Given the description of an element on the screen output the (x, y) to click on. 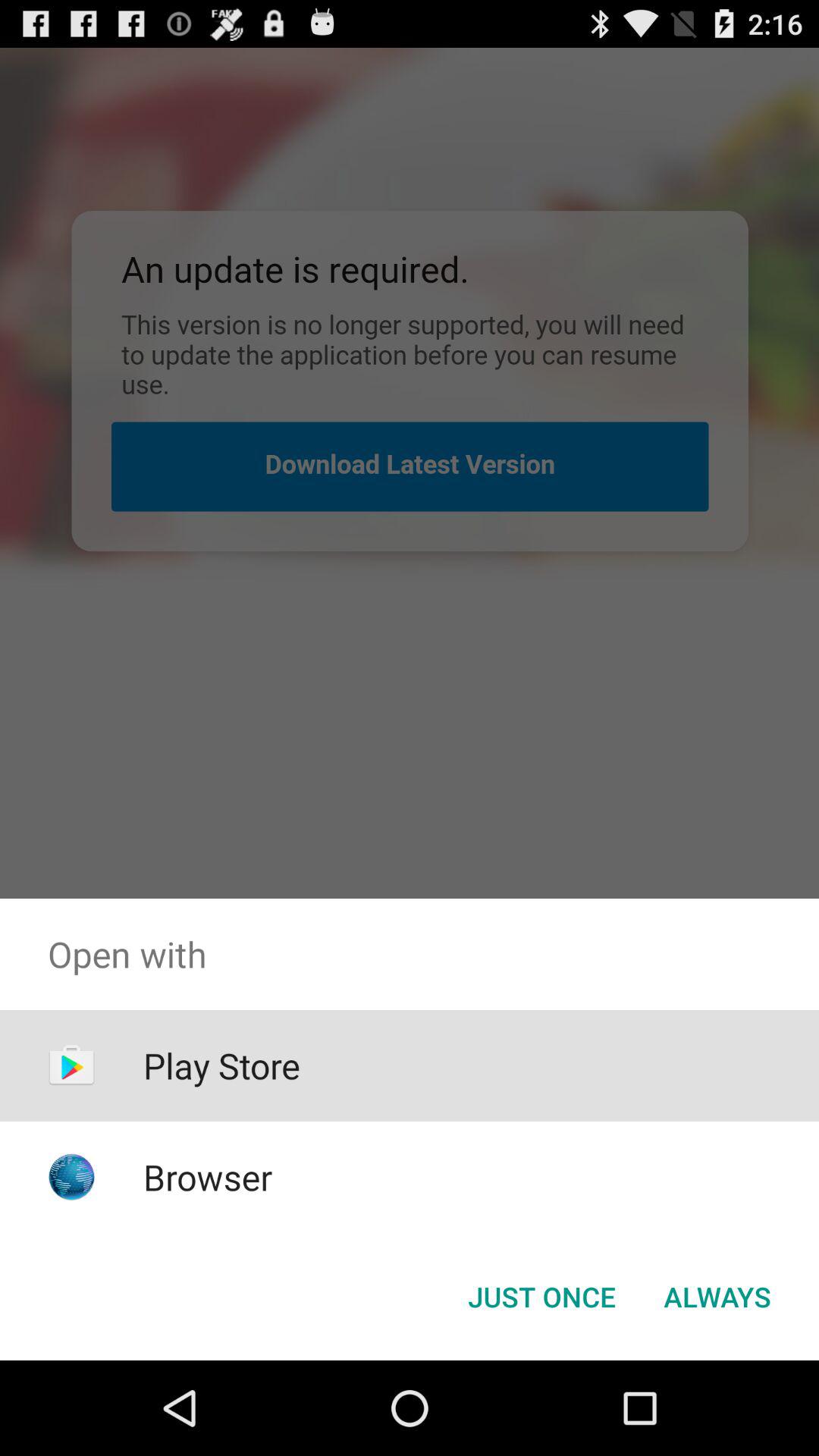
turn off the just once at the bottom (541, 1296)
